Given the description of an element on the screen output the (x, y) to click on. 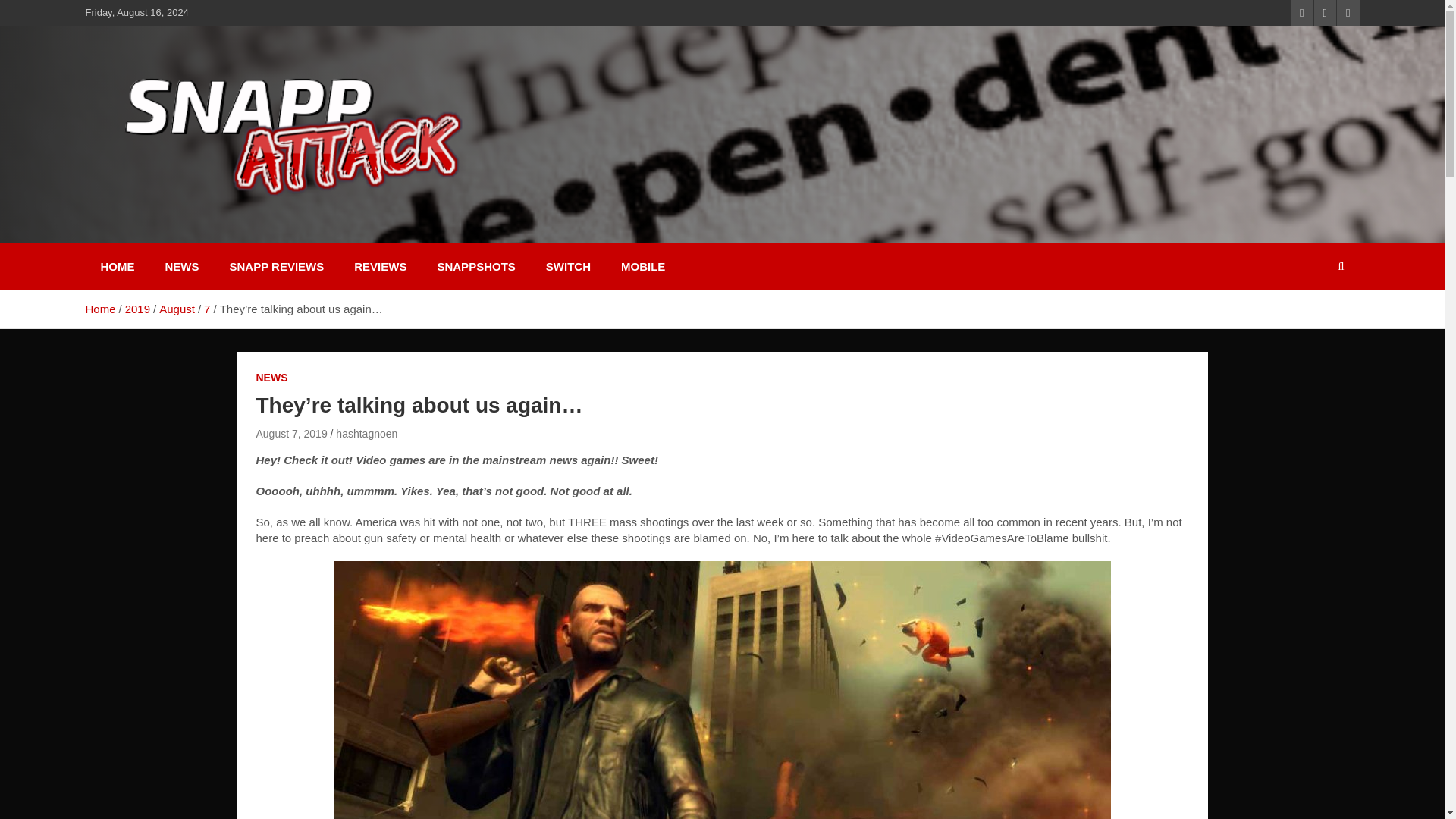
SNAPP Attack! (191, 232)
HOME (116, 266)
Home (99, 308)
August 7, 2019 (291, 433)
SNAPP REVIEWS (276, 266)
SNAPPSHOTS (475, 266)
hashtagnoen (366, 433)
NEWS (272, 378)
NEWS (181, 266)
August (176, 308)
